Given the description of an element on the screen output the (x, y) to click on. 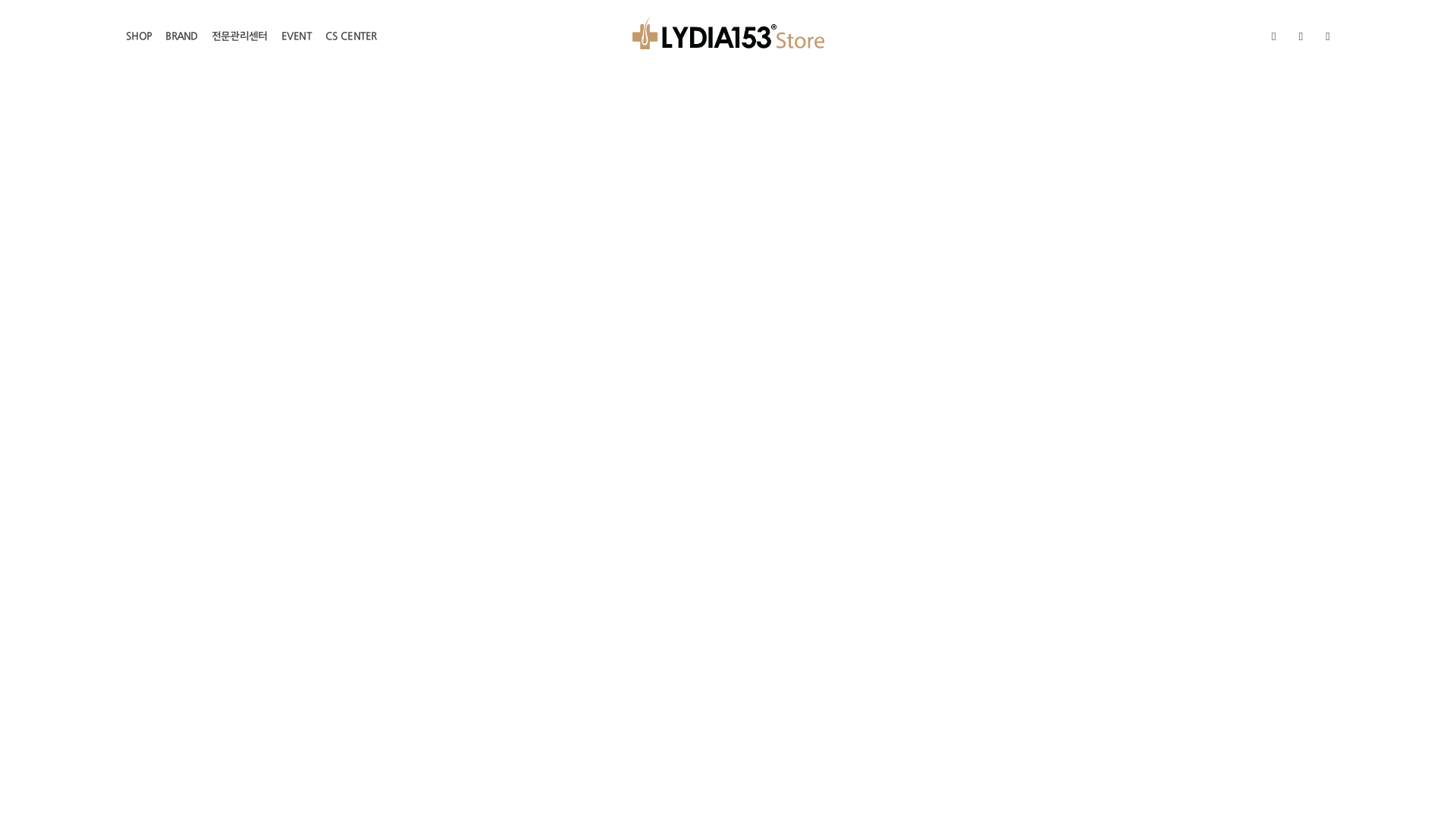
SHOP Element type: text (138, 36)
EVENT Element type: text (296, 36)
BRAND Element type: text (181, 36)
CS CENTER Element type: text (350, 36)
